Given the description of an element on the screen output the (x, y) to click on. 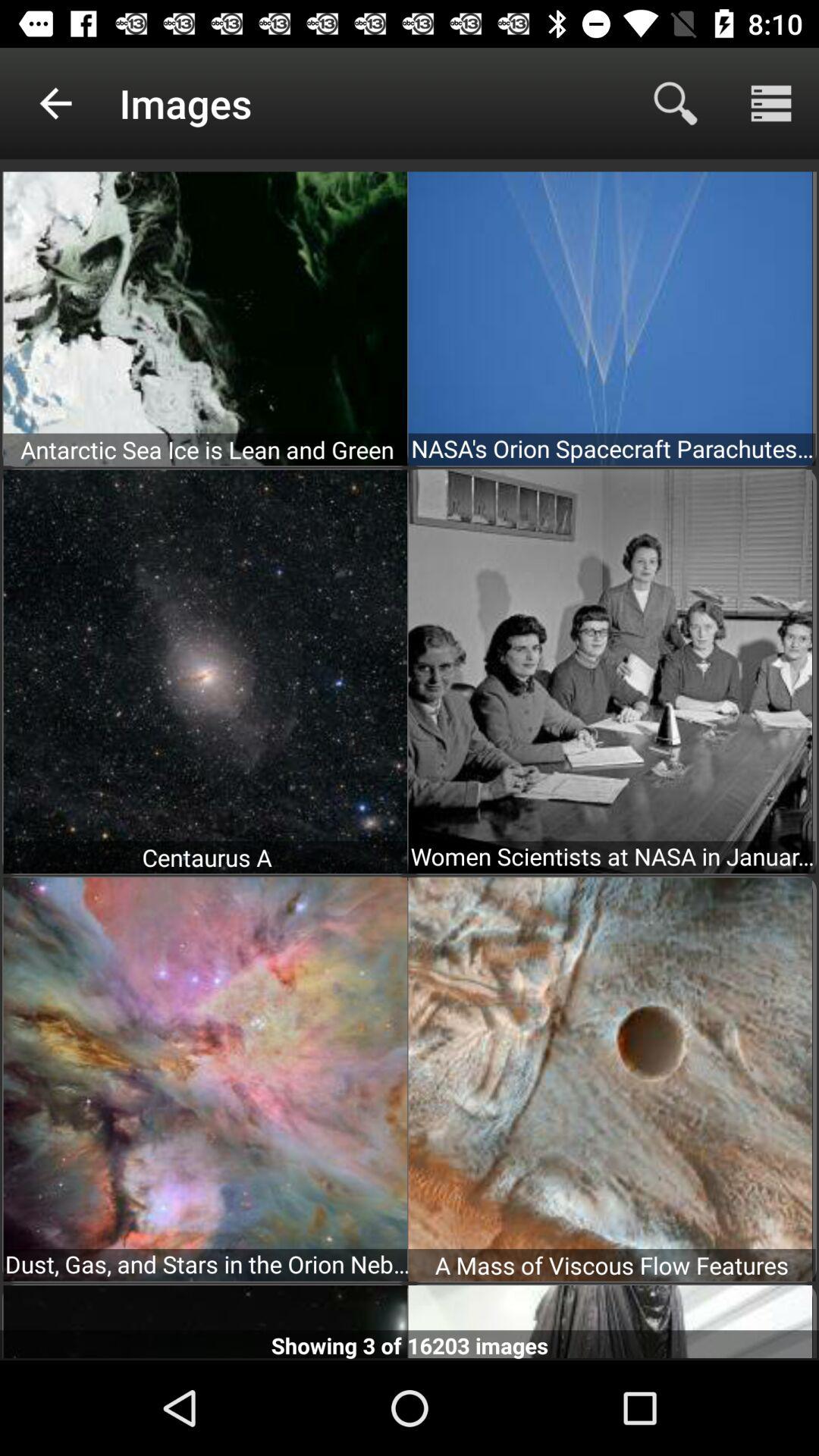
click app to the left of the images (55, 103)
